Given the description of an element on the screen output the (x, y) to click on. 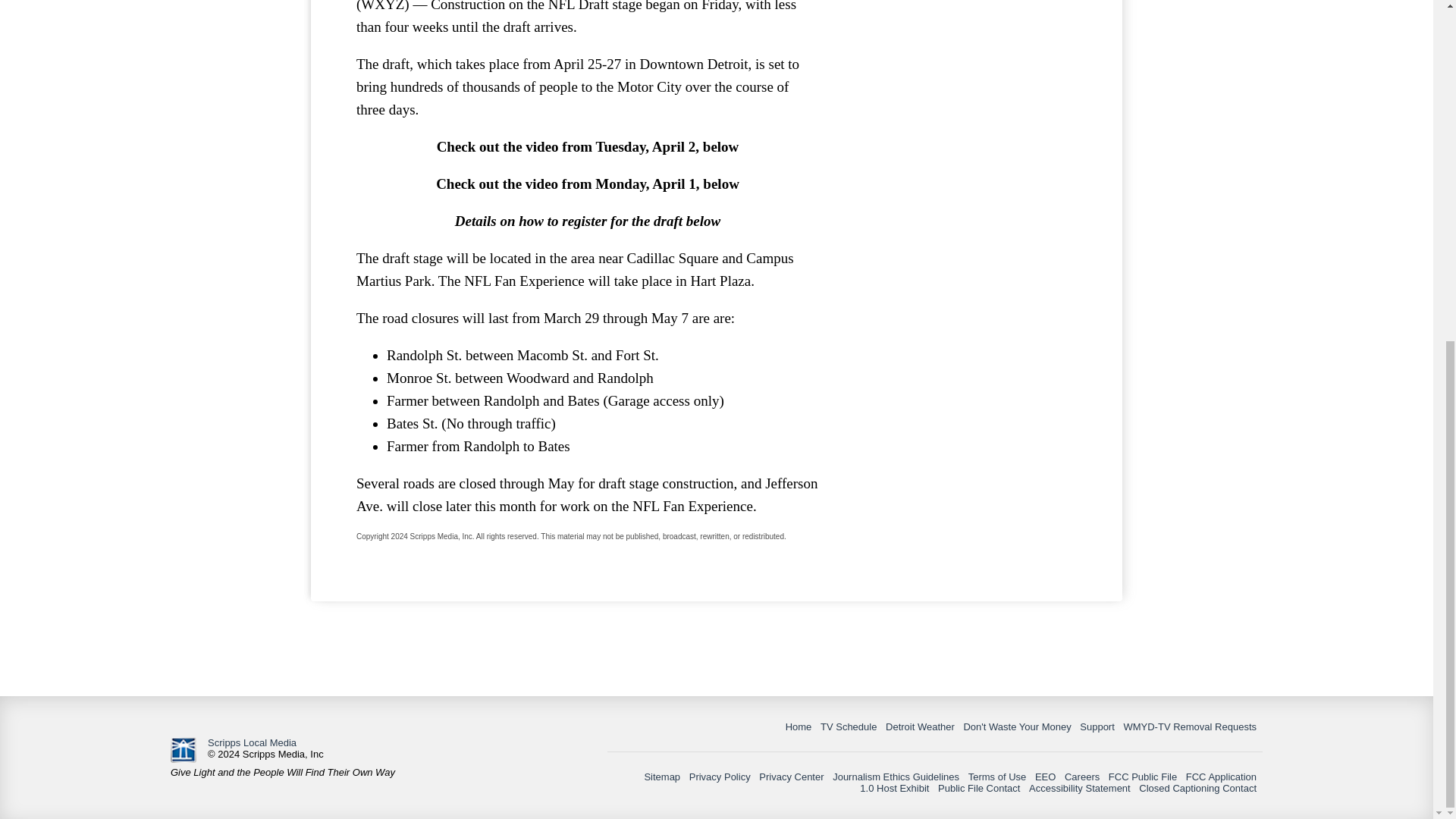
Privacy Policy (719, 776)
Detroit Weather (920, 726)
Support (1097, 726)
Home (799, 726)
Sitemap (661, 776)
TV Schedule (848, 726)
Don't Waste Your Money (1016, 726)
WMYD-TV Removal Requests (1189, 726)
